Given the description of an element on the screen output the (x, y) to click on. 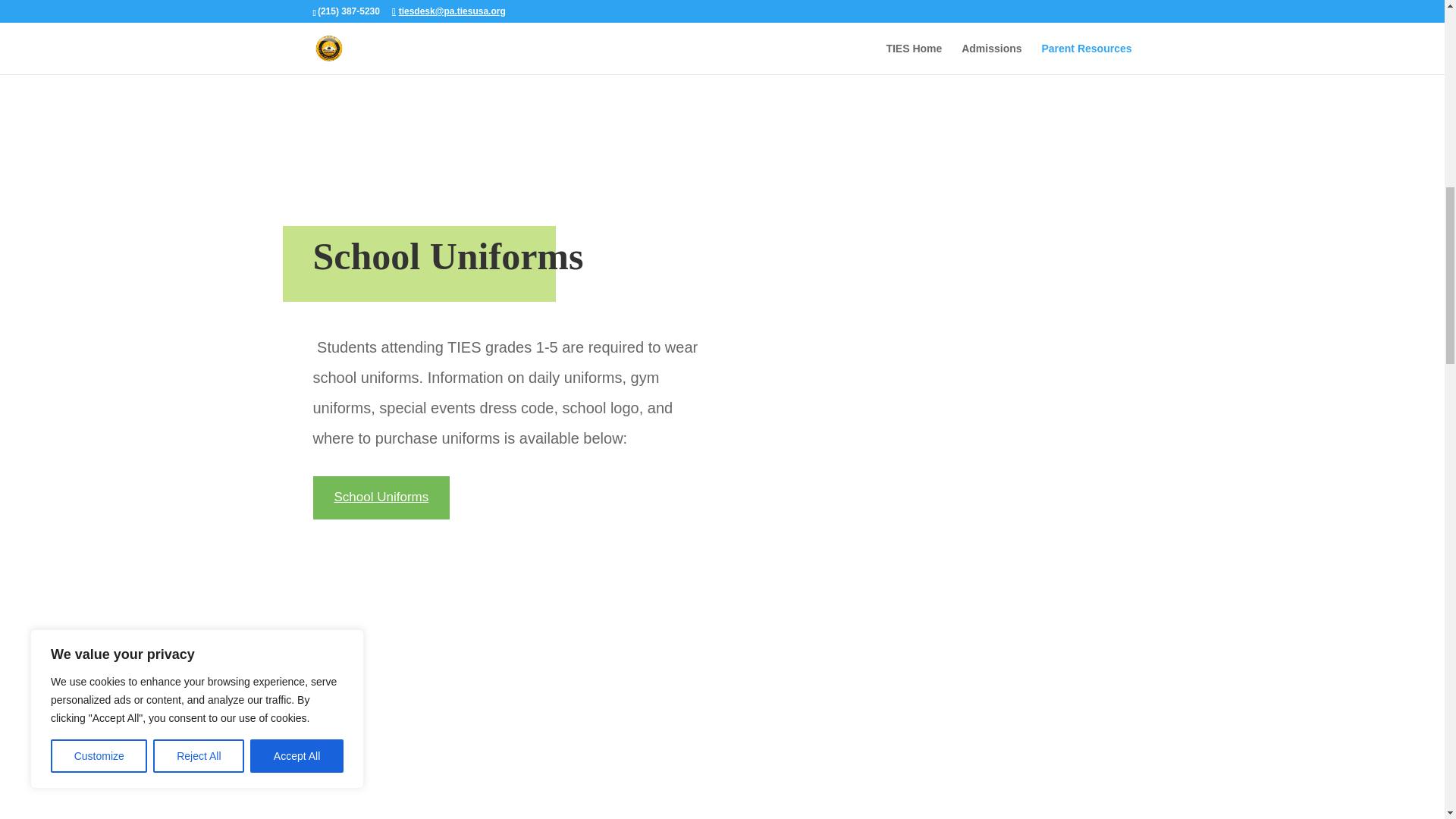
ties9 (505, 61)
School Uniforms (381, 497)
